Given the description of an element on the screen output the (x, y) to click on. 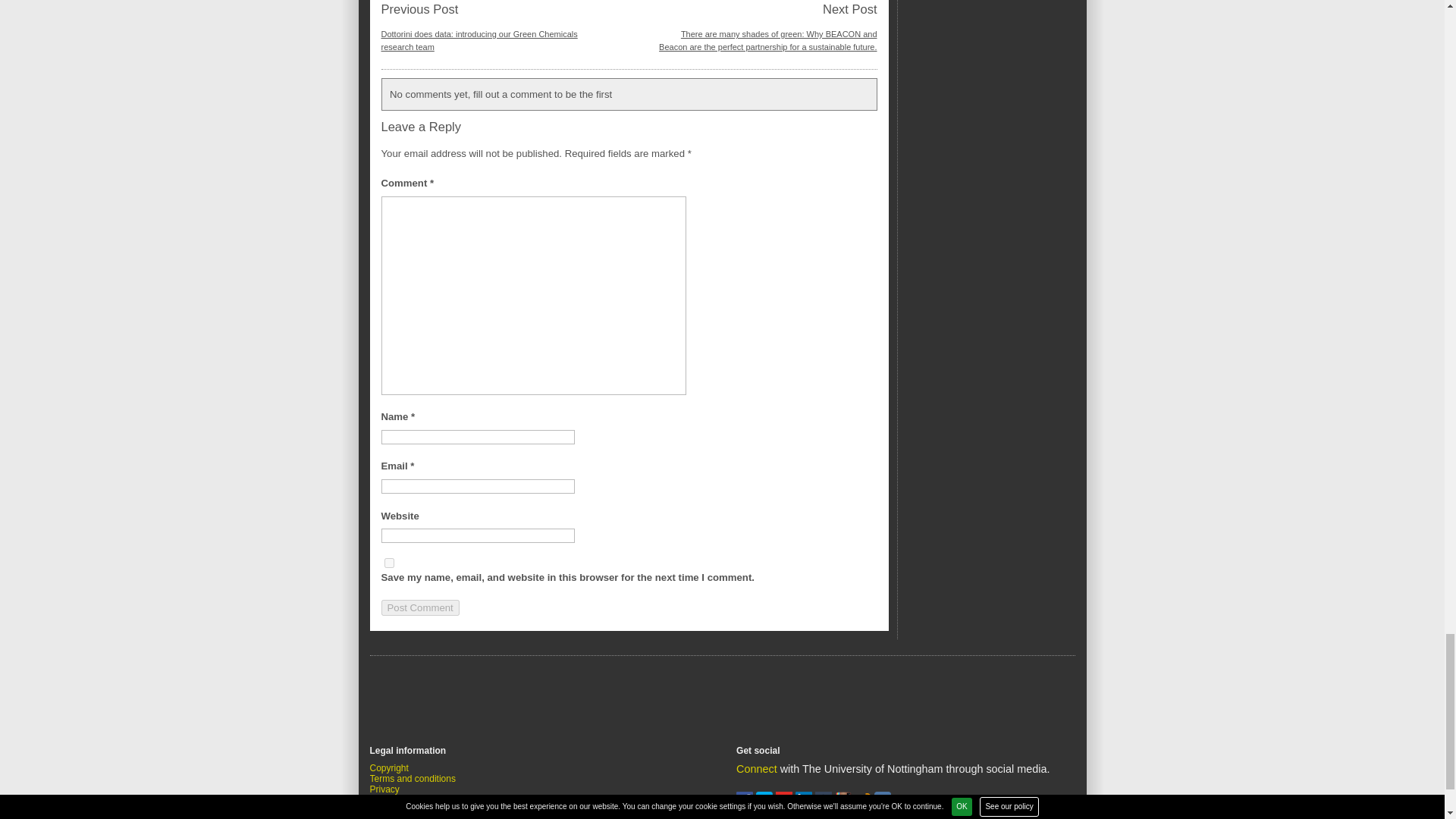
Posting rules (395, 799)
Get Social with The University of Nottingham (756, 768)
Privacy (383, 788)
Watch us on You Tube (785, 804)
Freedom of information (416, 817)
yes (388, 562)
Find us on Weibo (864, 804)
Accessibility (394, 810)
Find us on Instagram (844, 804)
Copyright  (389, 767)
Join us on Linked in (804, 804)
Follow our Tumblr (824, 804)
Follow us on twitter (765, 804)
Post Comment (419, 607)
Terms and conditions (412, 778)
